Given the description of an element on the screen output the (x, y) to click on. 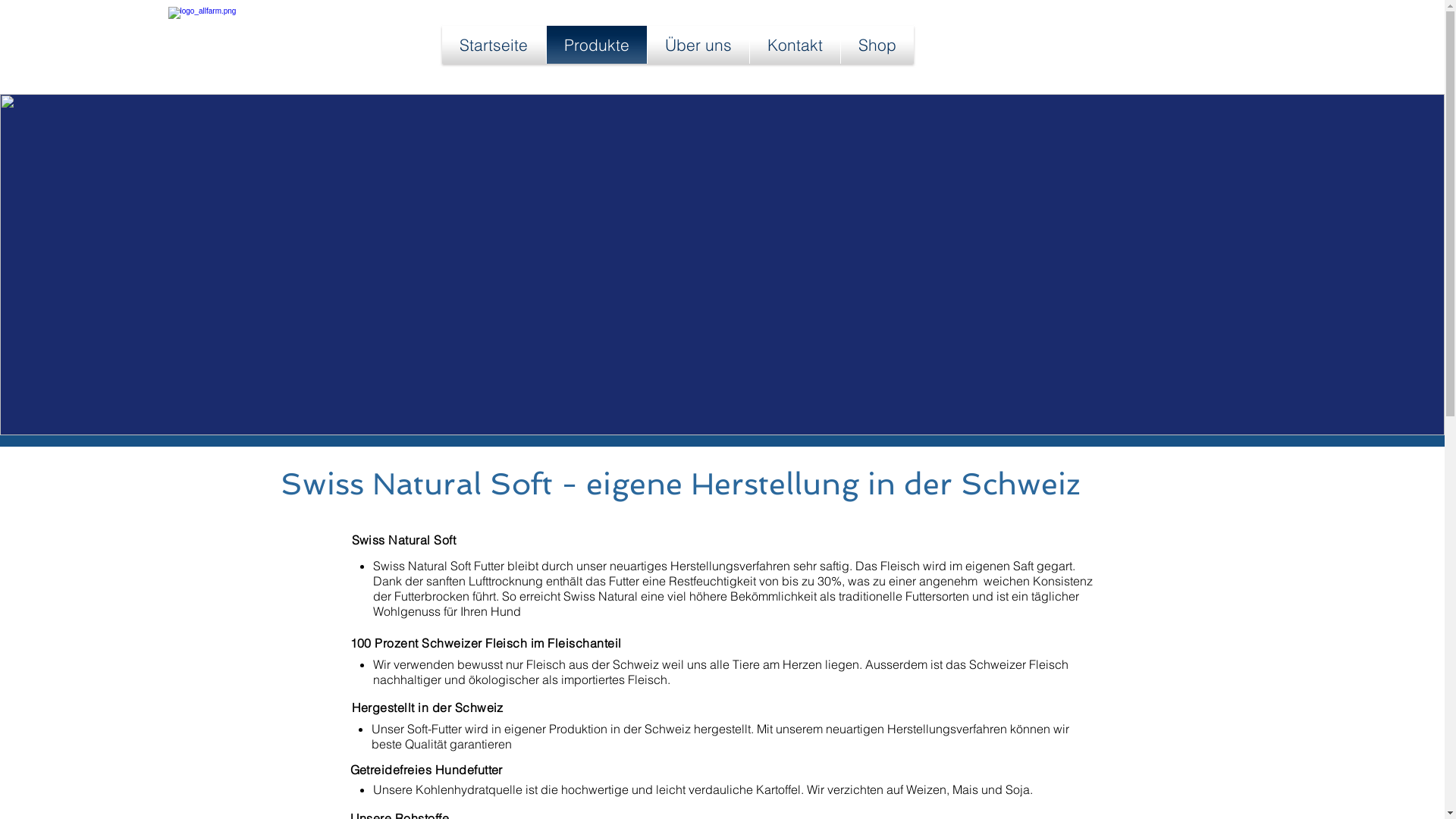
Produkte Element type: text (596, 44)
Allfarm AG Element type: hover (270, 44)
Shop Element type: text (876, 44)
Kontakt Element type: text (794, 44)
Startseite Element type: text (493, 44)
